Given the description of an element on the screen output the (x, y) to click on. 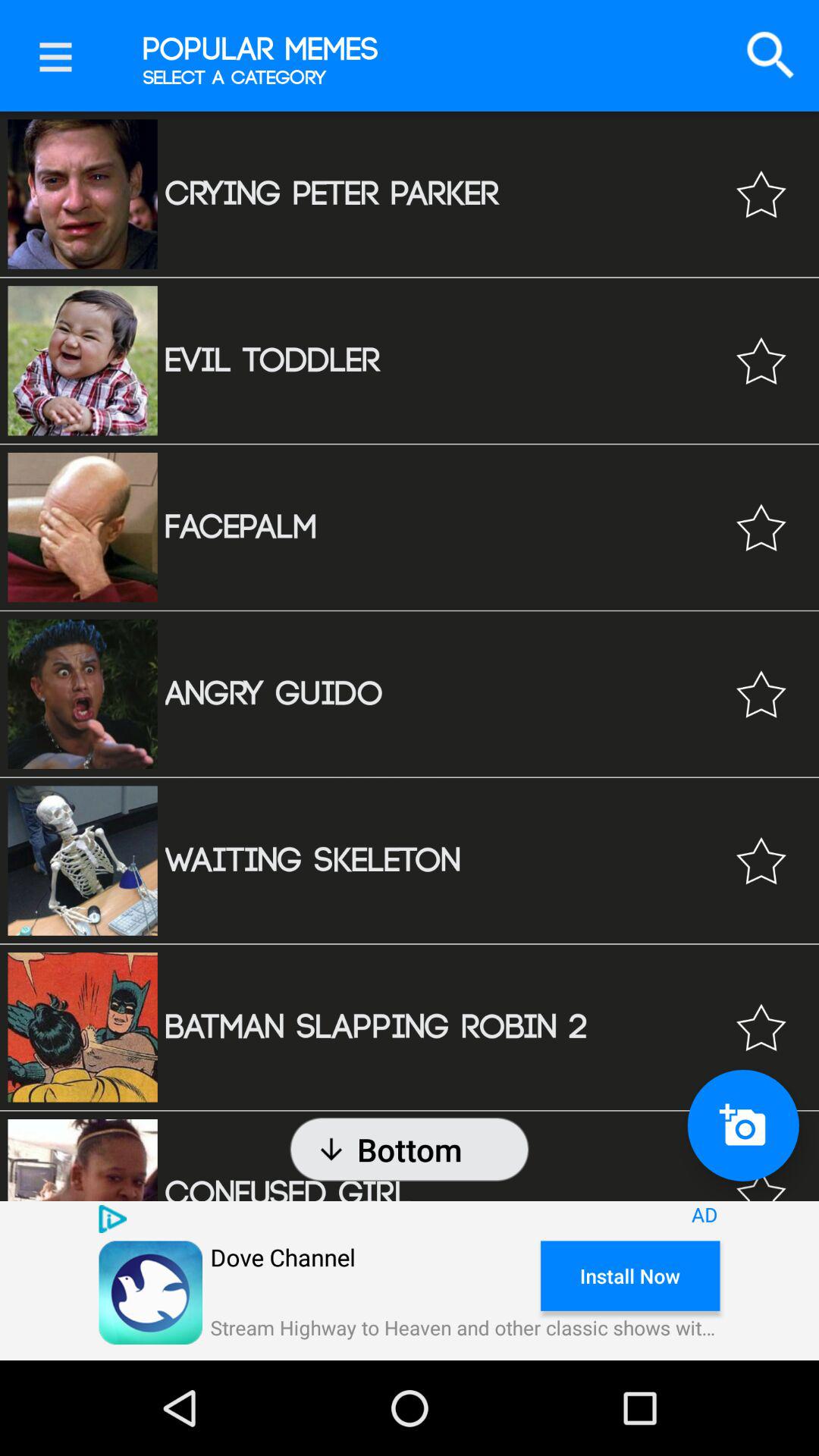
take a photo (743, 1125)
